Given the description of an element on the screen output the (x, y) to click on. 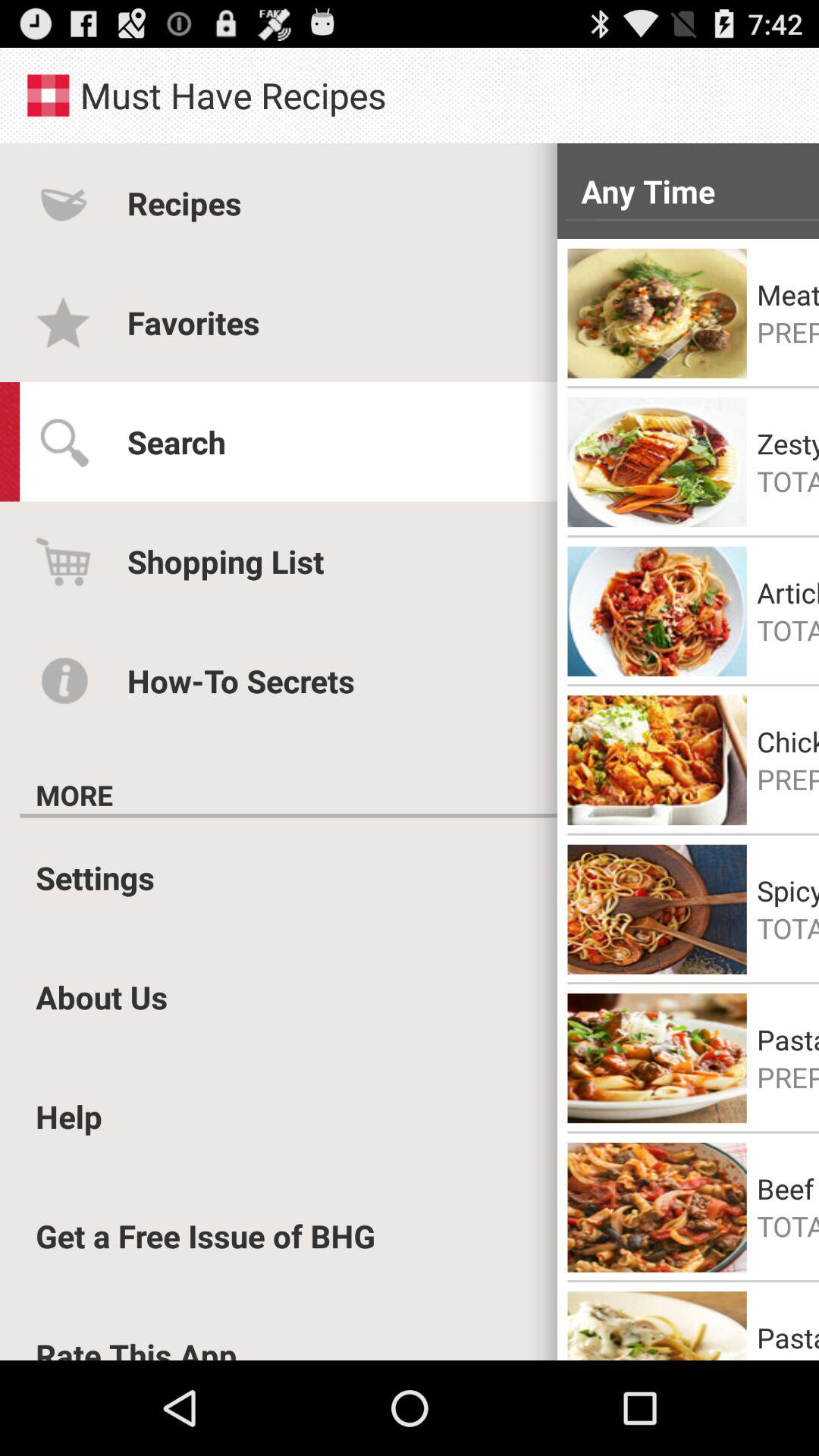
open item above the prep 40 min item (788, 294)
